Given the description of an element on the screen output the (x, y) to click on. 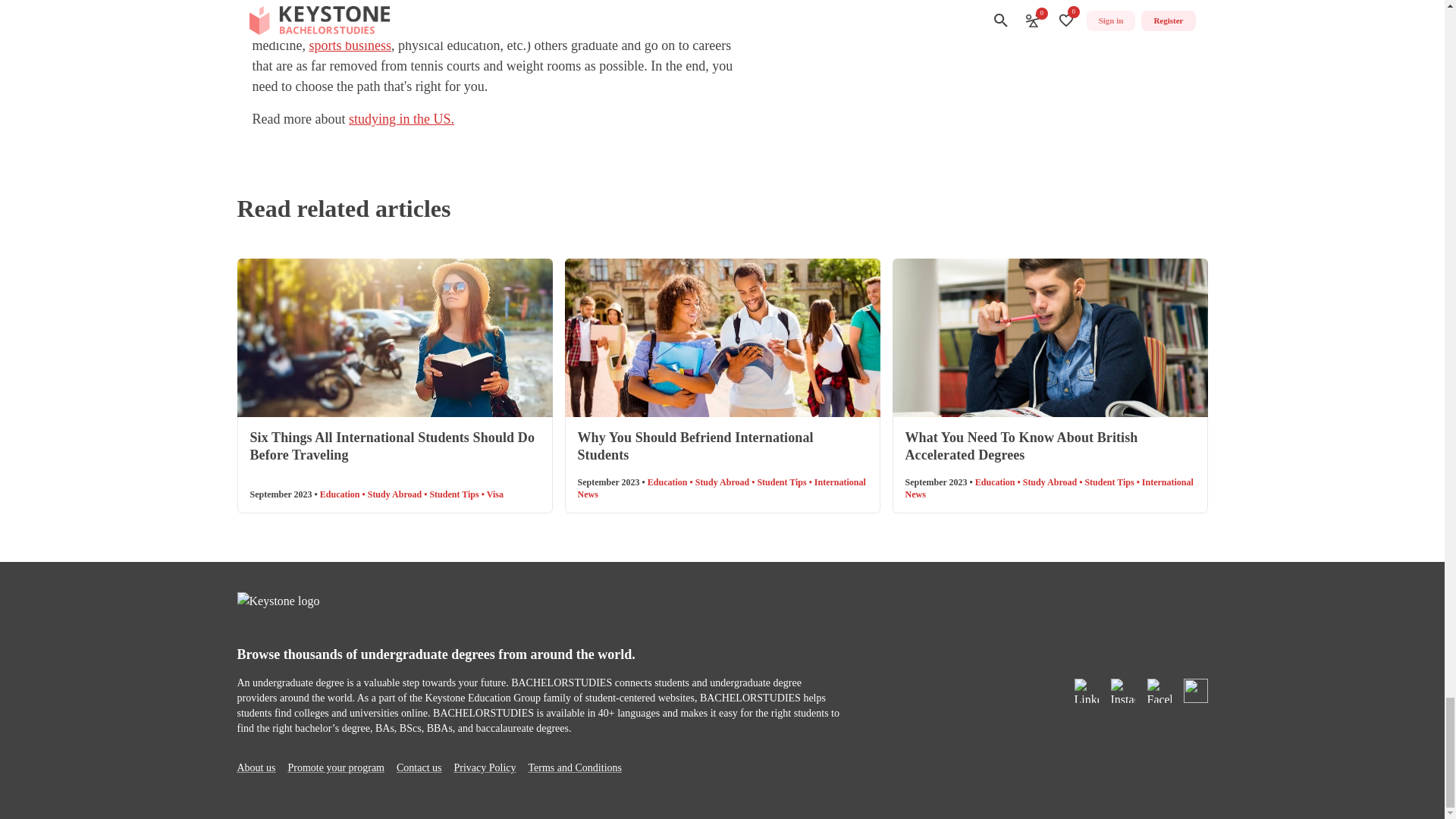
studying in the US. (401, 118)
Promote your program (335, 767)
About us (255, 767)
Terms and Conditions (574, 767)
Contact us (419, 767)
sports business (349, 45)
Privacy Policy (483, 767)
